Given the description of an element on the screen output the (x, y) to click on. 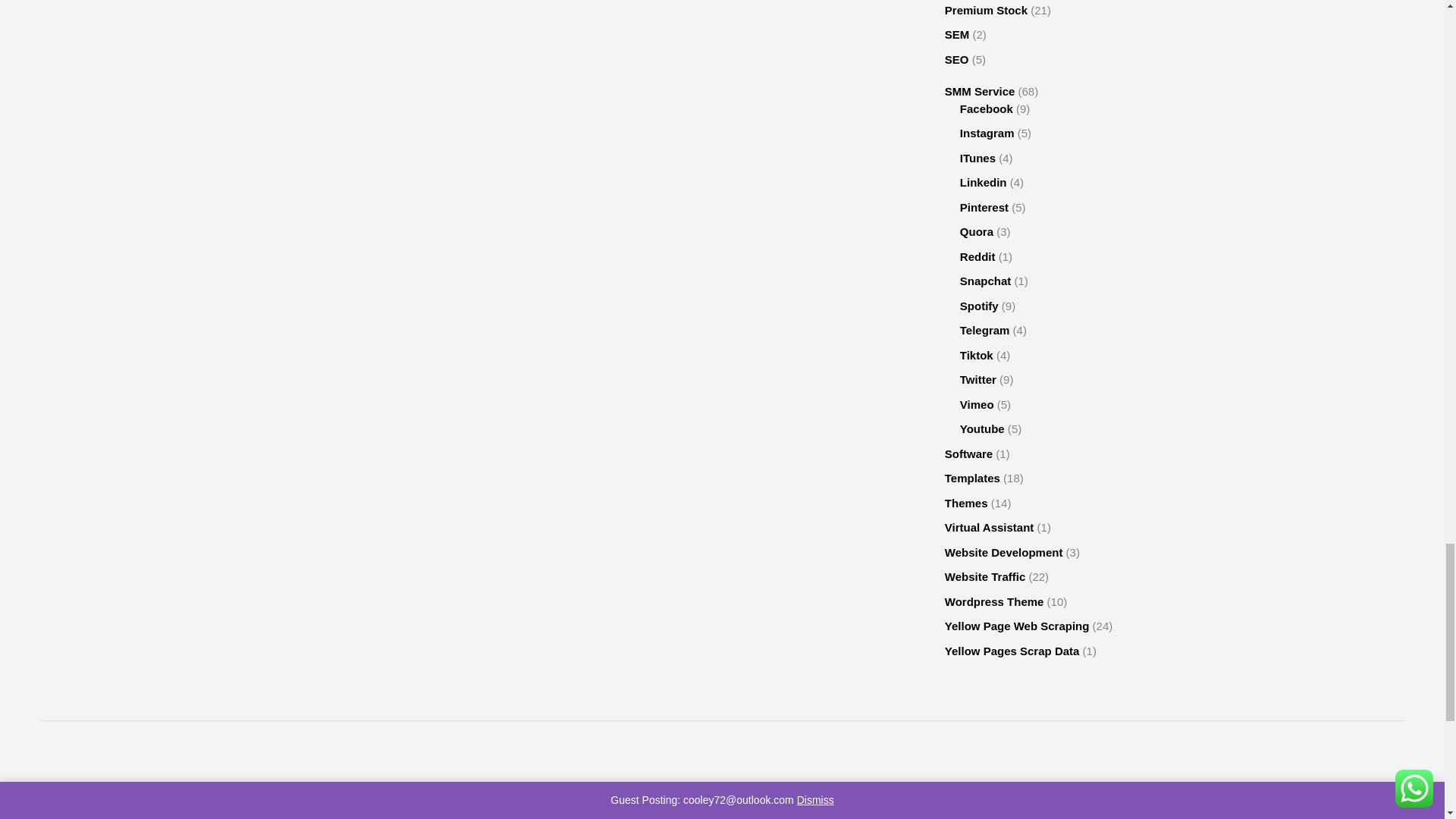
Facebook (678, 794)
Pinterest (721, 794)
Instagram (765, 794)
